Given the description of an element on the screen output the (x, y) to click on. 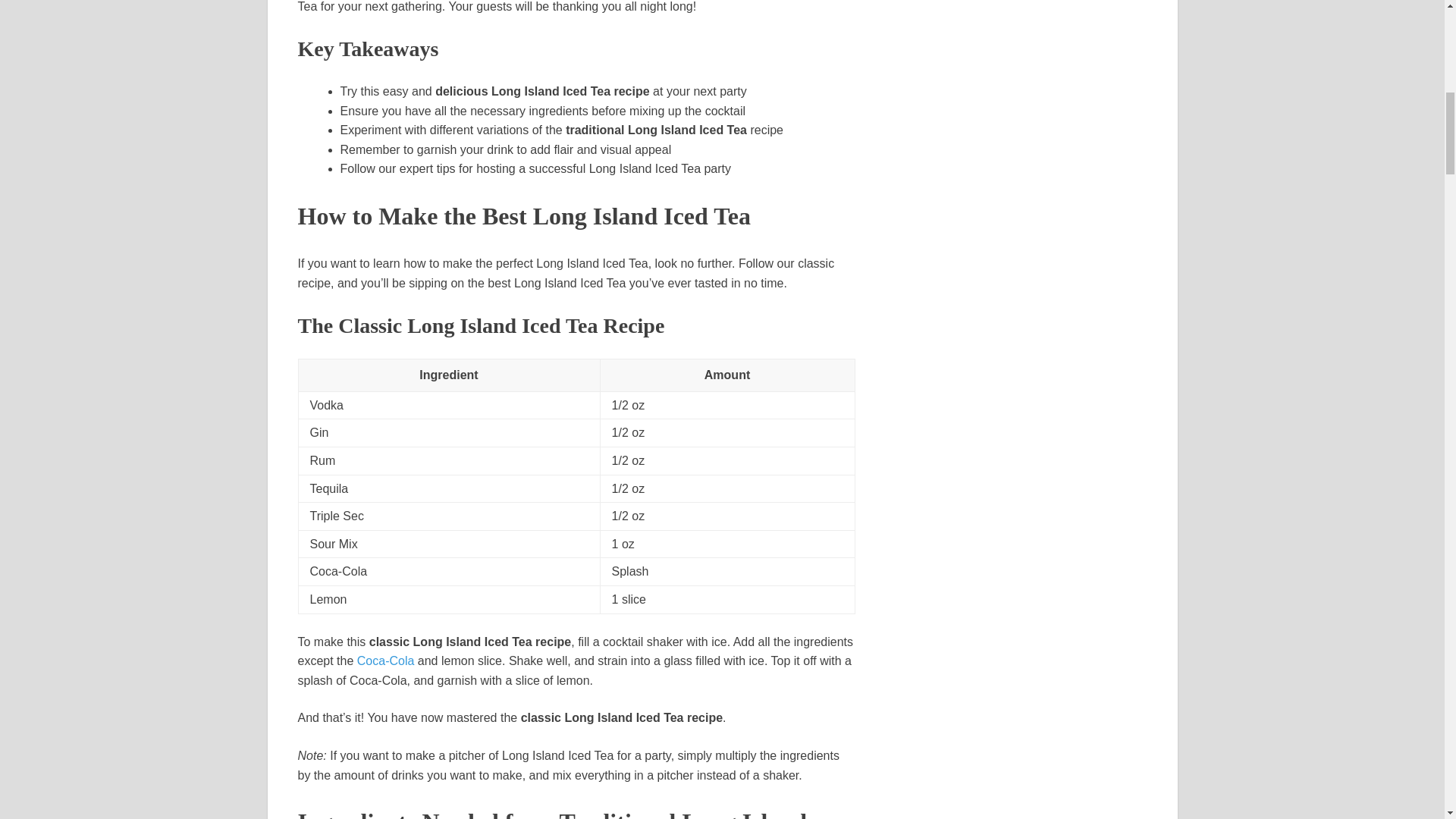
Coca-Cola (385, 660)
